Given the description of an element on the screen output the (x, y) to click on. 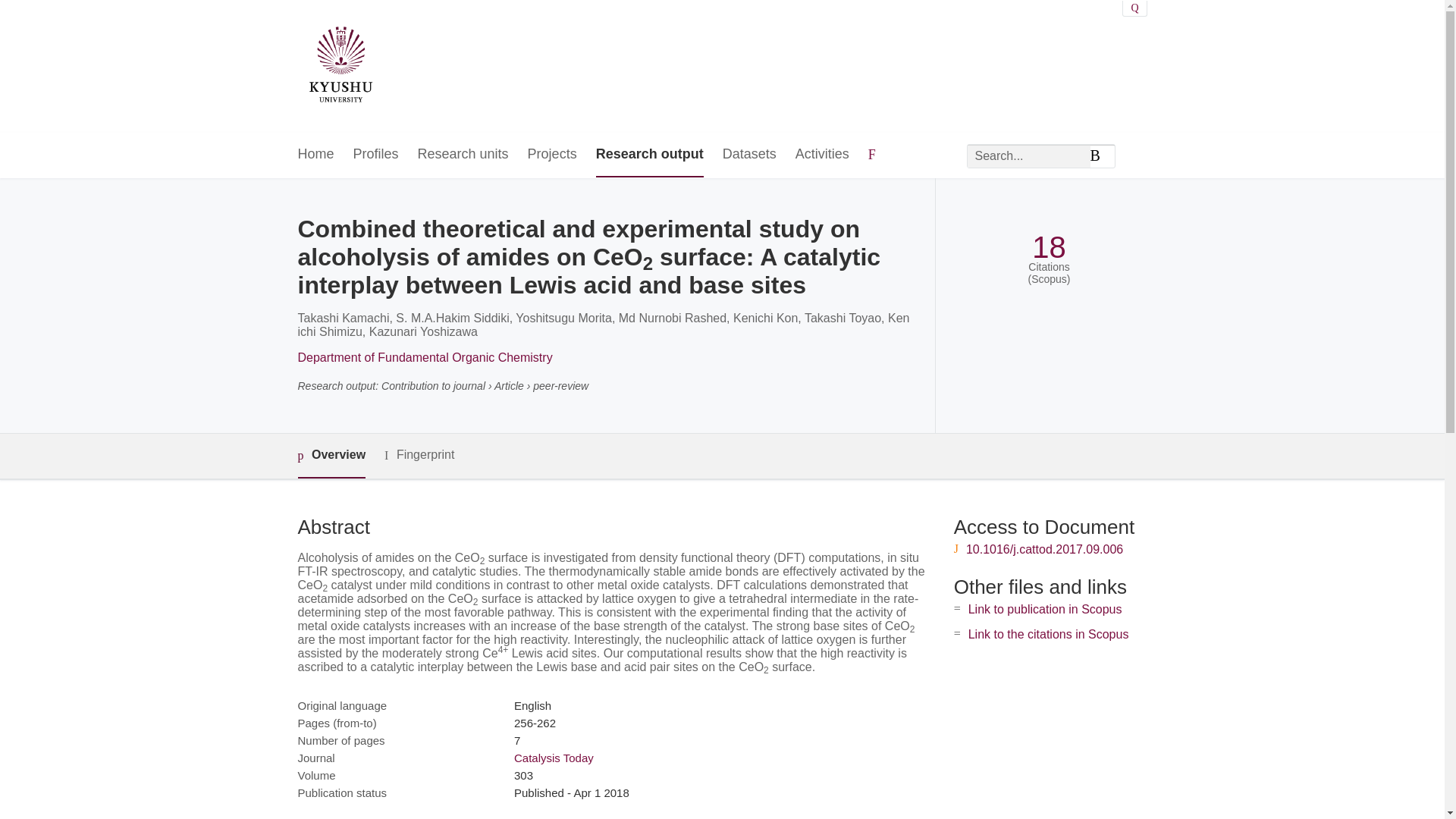
Catalysis Today (553, 757)
Research units (462, 154)
Link to the citations in Scopus (1048, 634)
18 (1048, 247)
Research output (649, 154)
Activities (821, 154)
Profiles (375, 154)
Projects (551, 154)
Overview (331, 456)
Fingerprint (419, 455)
